Given the description of an element on the screen output the (x, y) to click on. 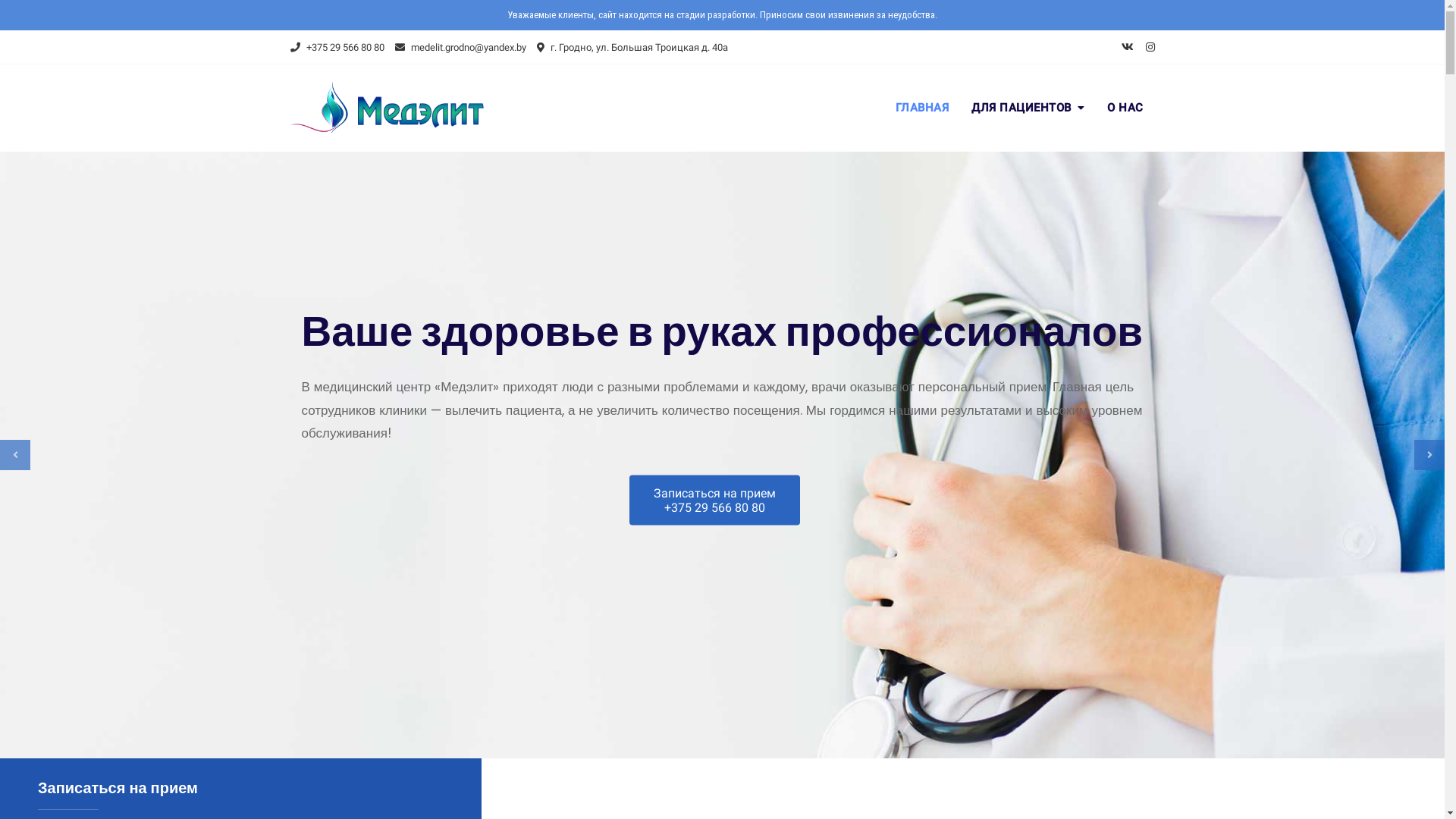
medelit.grodno@yandex.by Element type: text (459, 47)
+375 29 566 80 80 Element type: text (336, 47)
